Given the description of an element on the screen output the (x, y) to click on. 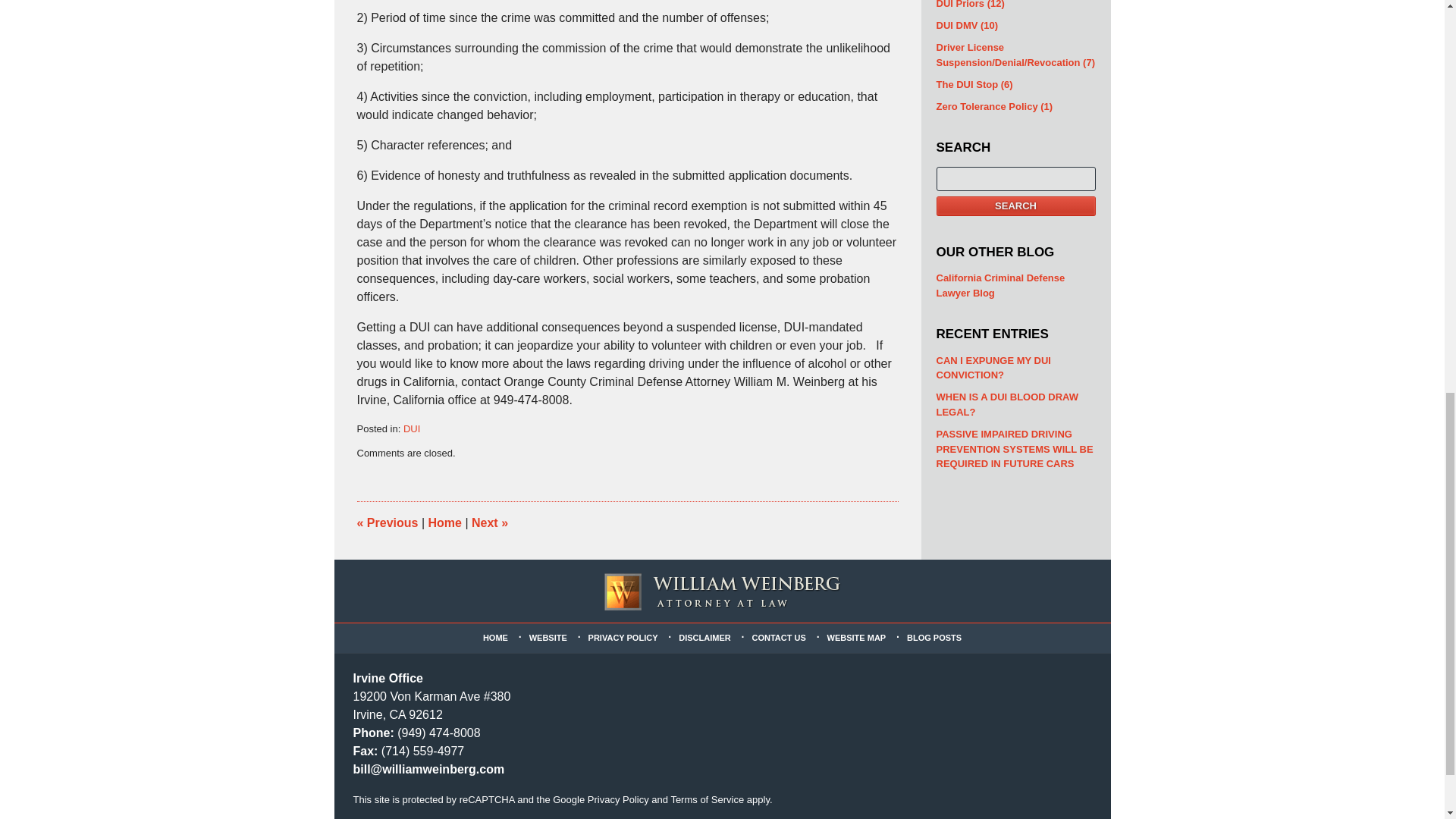
View all posts in DUI (411, 428)
Home (444, 522)
DUI (411, 428)
